Given the description of an element on the screen output the (x, y) to click on. 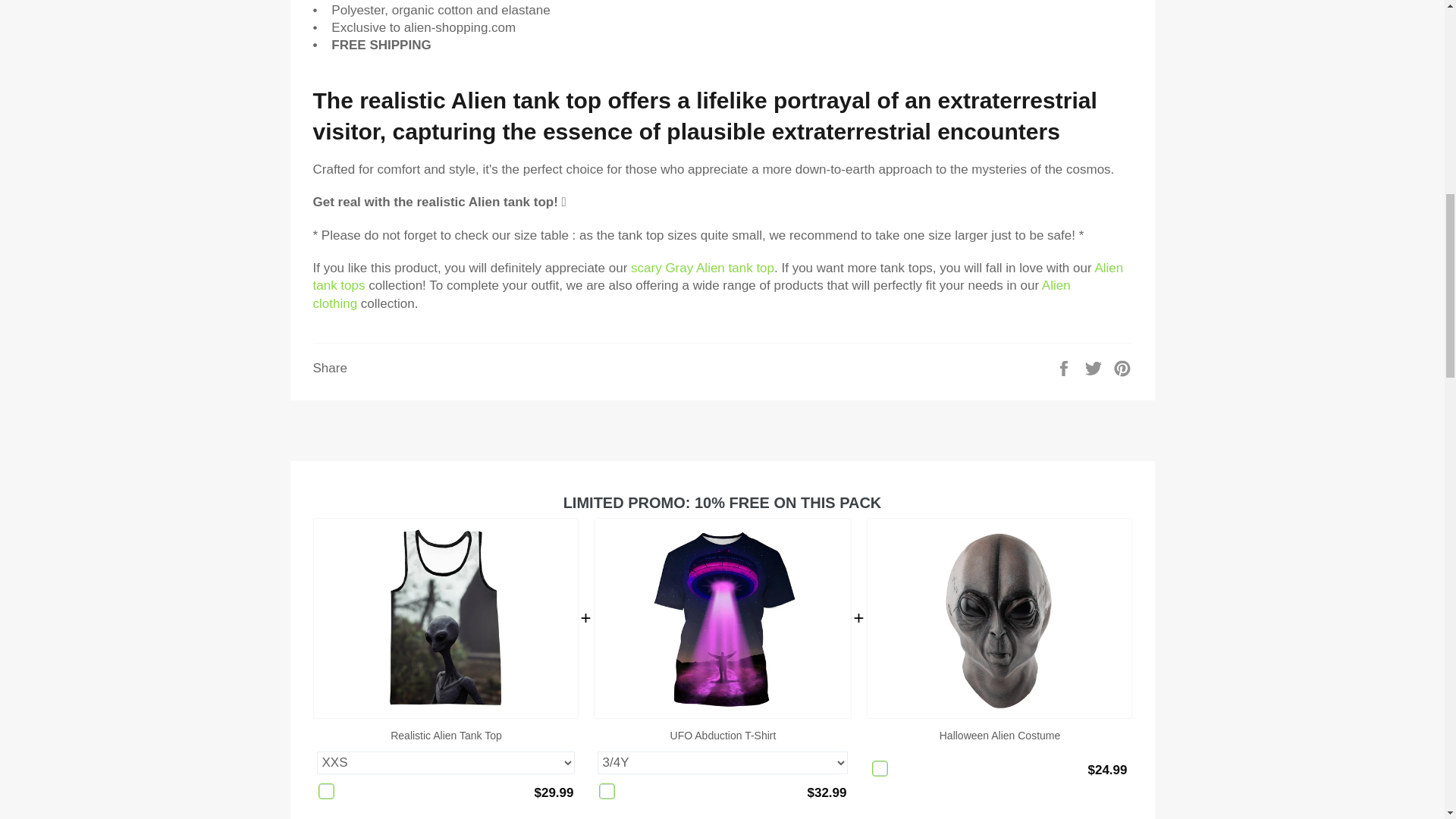
on (326, 790)
on (606, 790)
on (880, 768)
